Given the description of an element on the screen output the (x, y) to click on. 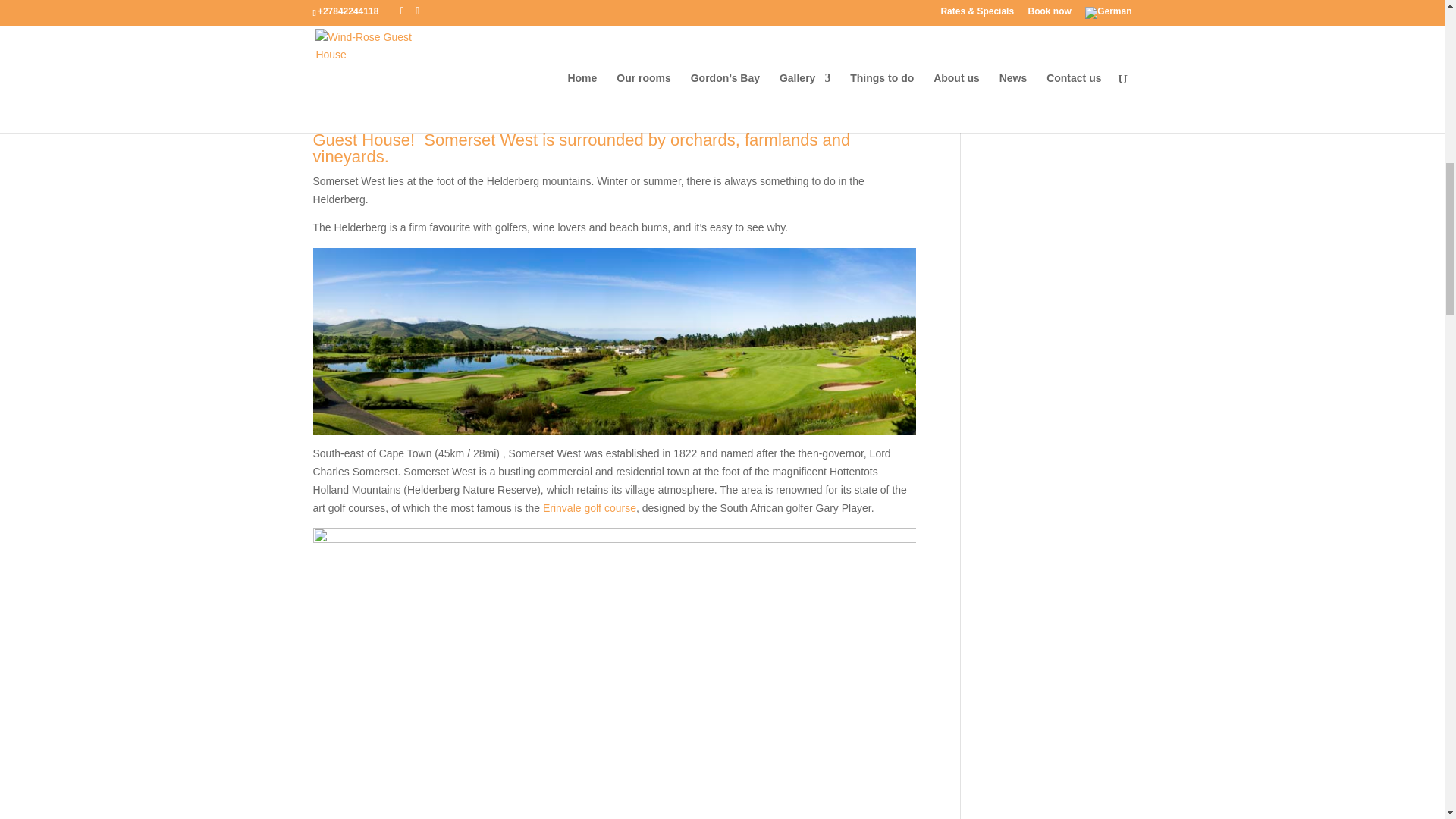
Erinvale golf course (589, 508)
ERINVALE GOLF CLUB (589, 508)
